Given the description of an element on the screen output the (x, y) to click on. 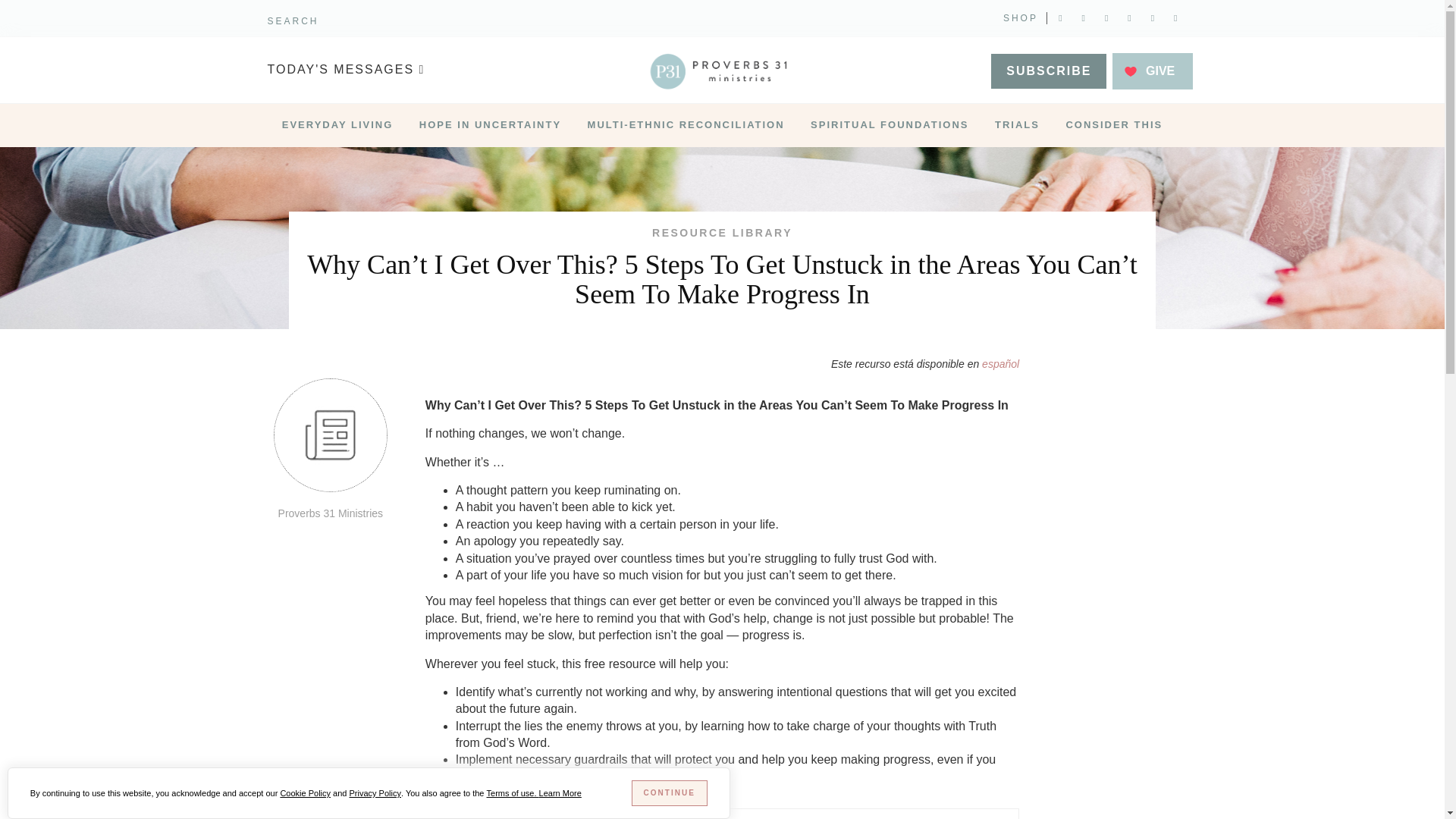
SHOP (1020, 18)
Cookie Policy (304, 792)
MULTI-ETHNIC RECONCILIATION (686, 125)
Proverbs 31 Ministries Home (722, 71)
Donate Button (1152, 71)
Pinterest (1128, 18)
SUBSCRIBE (1048, 71)
HOPE IN UNCERTAINTY (489, 125)
CONSIDER THIS (1113, 125)
Privacy Policy (374, 792)
SEARCH (292, 20)
